Given the description of an element on the screen output the (x, y) to click on. 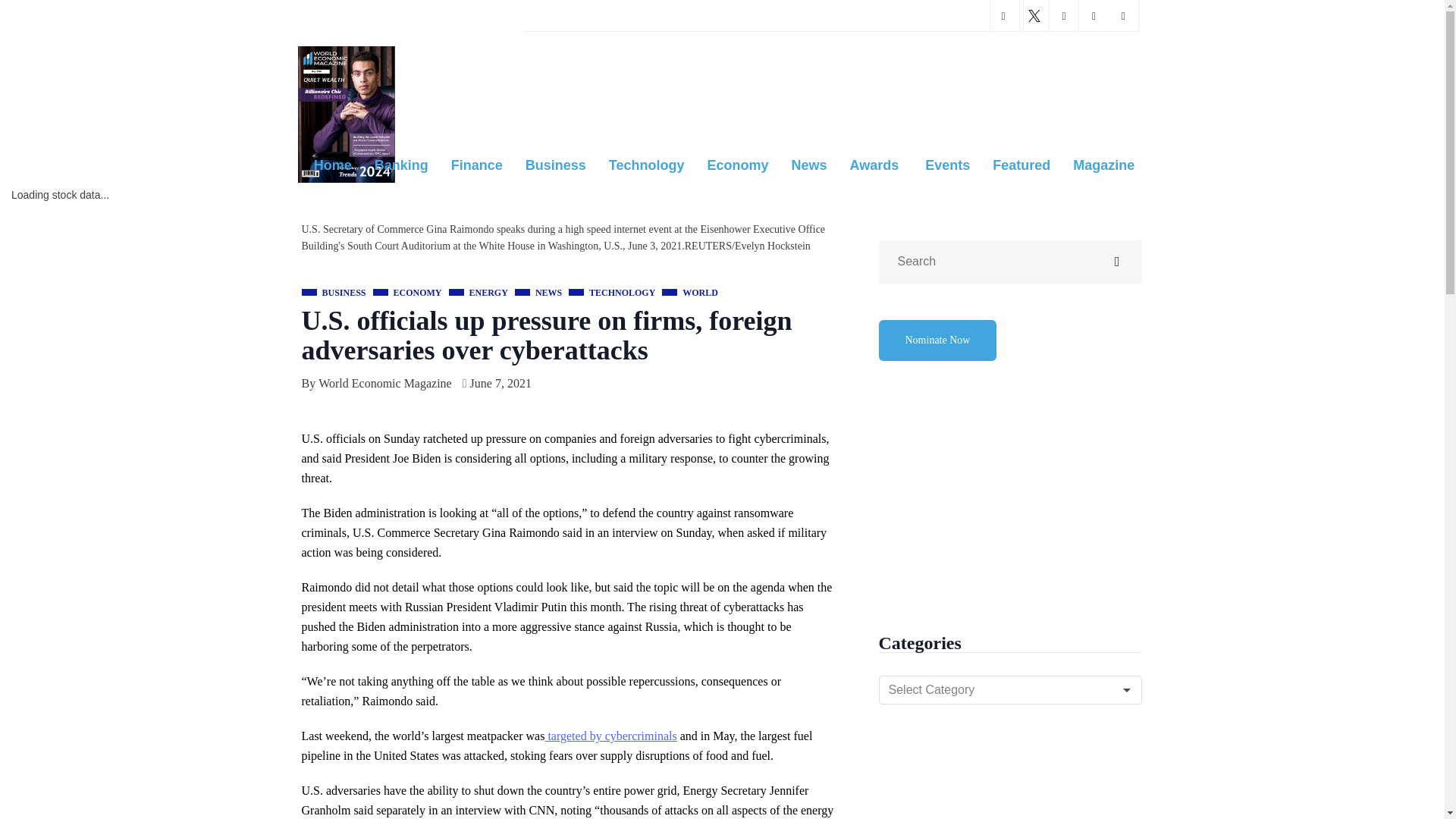
Business (554, 166)
News (808, 166)
Finance (476, 166)
Magazine (1103, 166)
NEWS (538, 293)
Banking (400, 166)
Economy (736, 166)
Events (947, 166)
Technology (645, 166)
Home (332, 166)
